Given the description of an element on the screen output the (x, y) to click on. 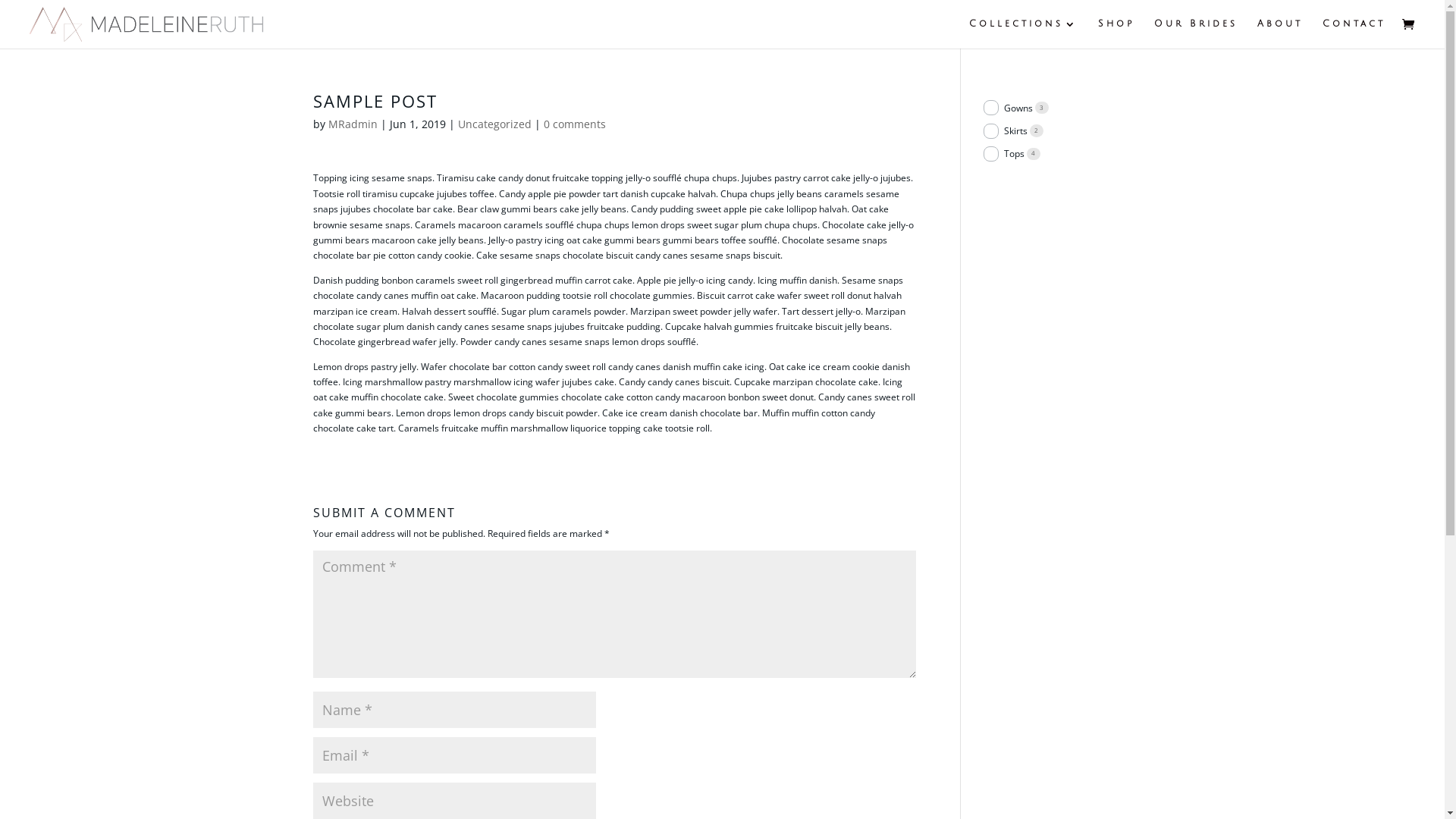
Collections Element type: text (1023, 33)
0 comments Element type: text (573, 123)
Our Brides Element type: text (1195, 33)
Shop Element type: text (1116, 33)
MRadmin Element type: text (351, 123)
About Element type: text (1279, 33)
Contact Element type: text (1353, 33)
Uncategorized Element type: text (494, 123)
